Given the description of an element on the screen output the (x, y) to click on. 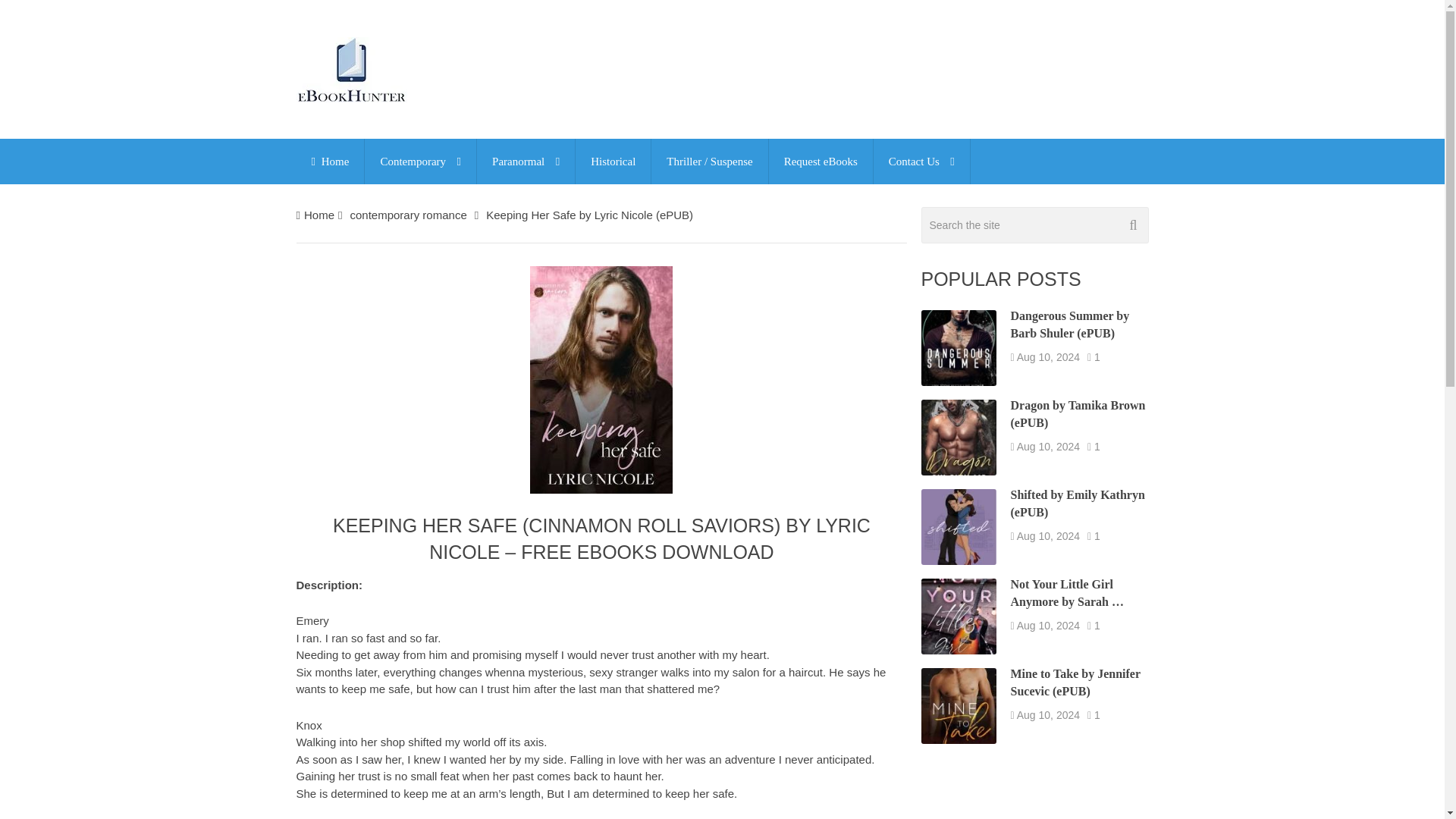
Home (329, 161)
Request eBooks (820, 161)
Home (319, 214)
Historical (612, 161)
Paranormal (526, 161)
Contemporary (420, 161)
Contact Us (921, 161)
contemporary romance (407, 214)
